Given the description of an element on the screen output the (x, y) to click on. 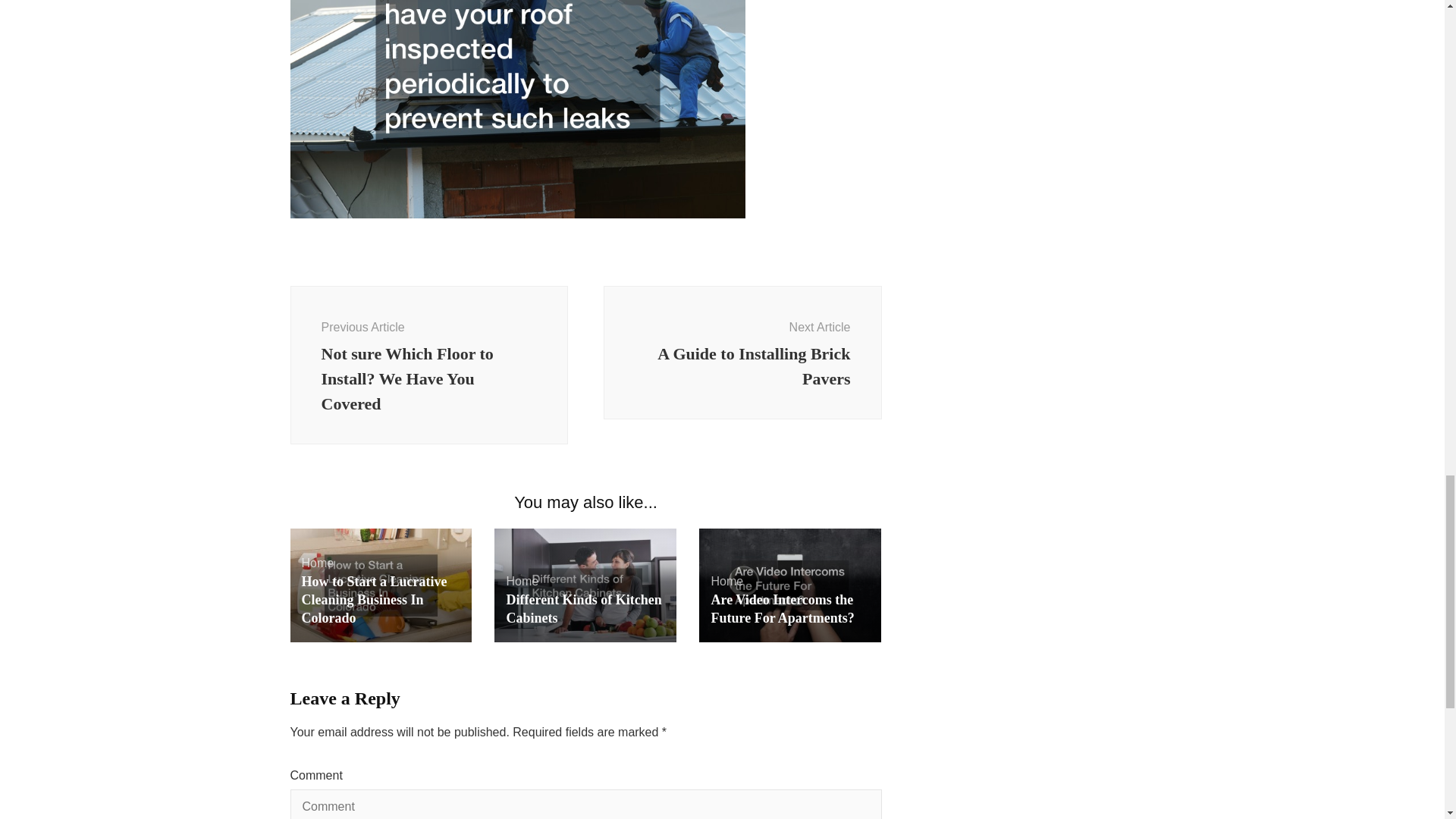
How to Start a Lucrative Cleaning Business In Colorado (373, 599)
Home (726, 581)
Different Kinds of Kitchen Cabinets (583, 608)
Home (317, 562)
Are Video Intercoms the Future For Apartments? (781, 608)
Home (743, 352)
